Given the description of an element on the screen output the (x, y) to click on. 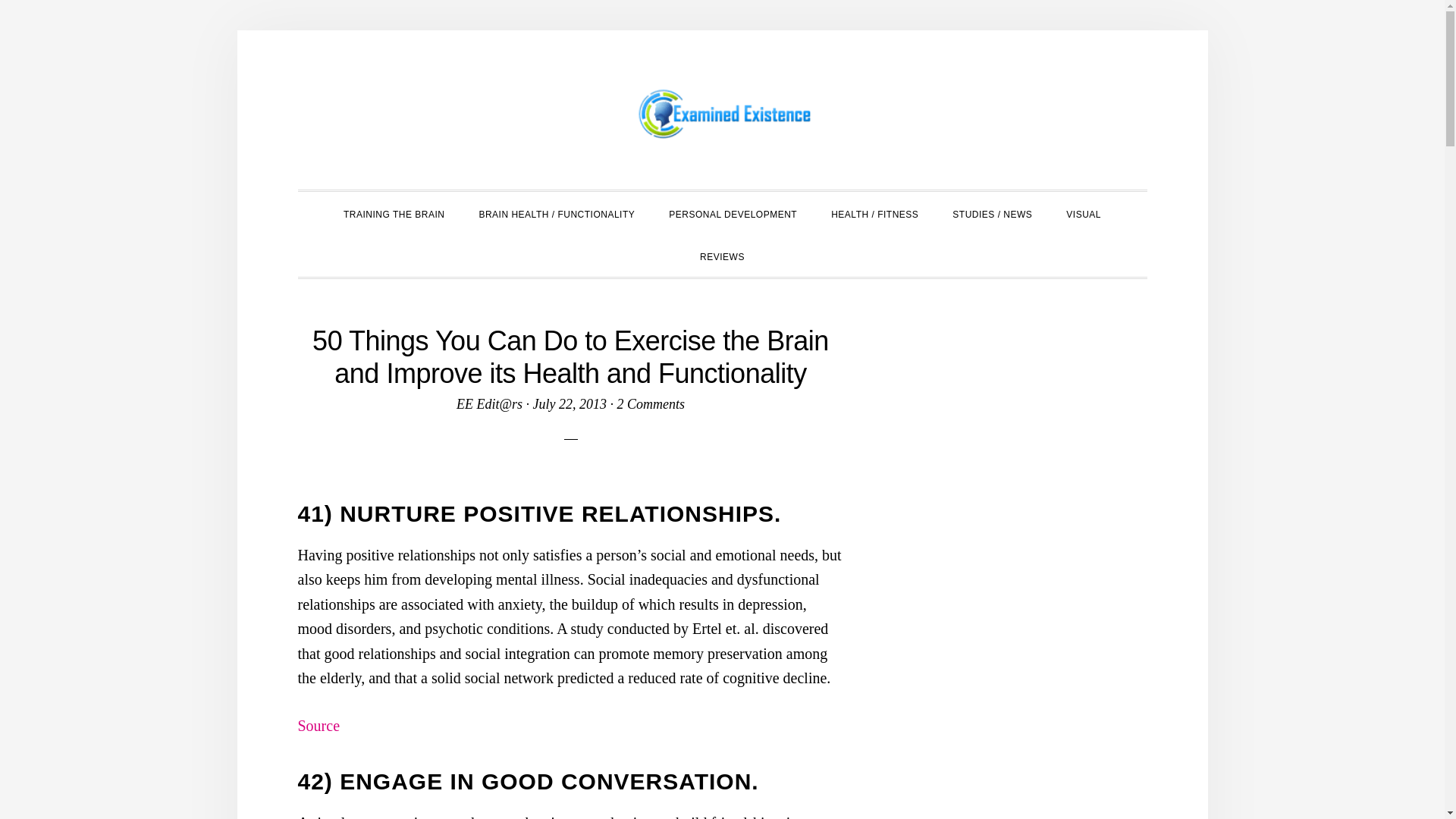
PERSONAL DEVELOPMENT (732, 212)
EXAMINED EXISTENCE (721, 113)
Source (318, 725)
TRAINING THE BRAIN (394, 212)
REVIEWS (722, 255)
2 Comments (651, 403)
VISUAL (1083, 212)
